Given the description of an element on the screen output the (x, y) to click on. 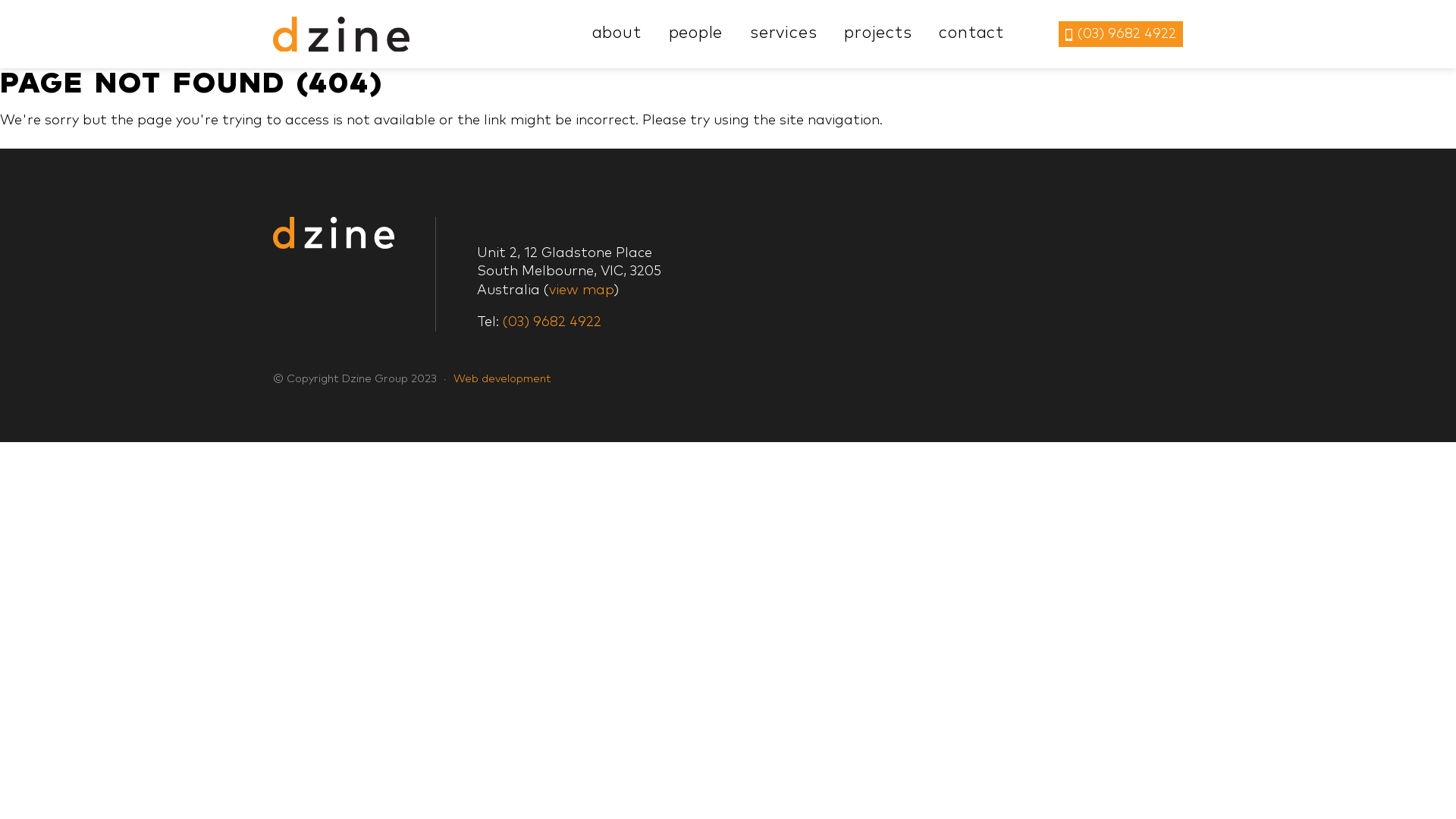
contact Element type: text (970, 33)
projects Element type: text (877, 33)
Web development Element type: text (502, 379)
(03) 9682 4922 Element type: text (551, 322)
about Element type: text (616, 33)
people Element type: text (695, 33)
services Element type: text (782, 33)
(03) 9682 4922 Element type: text (1120, 33)
view map Element type: text (581, 290)
